Given the description of an element on the screen output the (x, y) to click on. 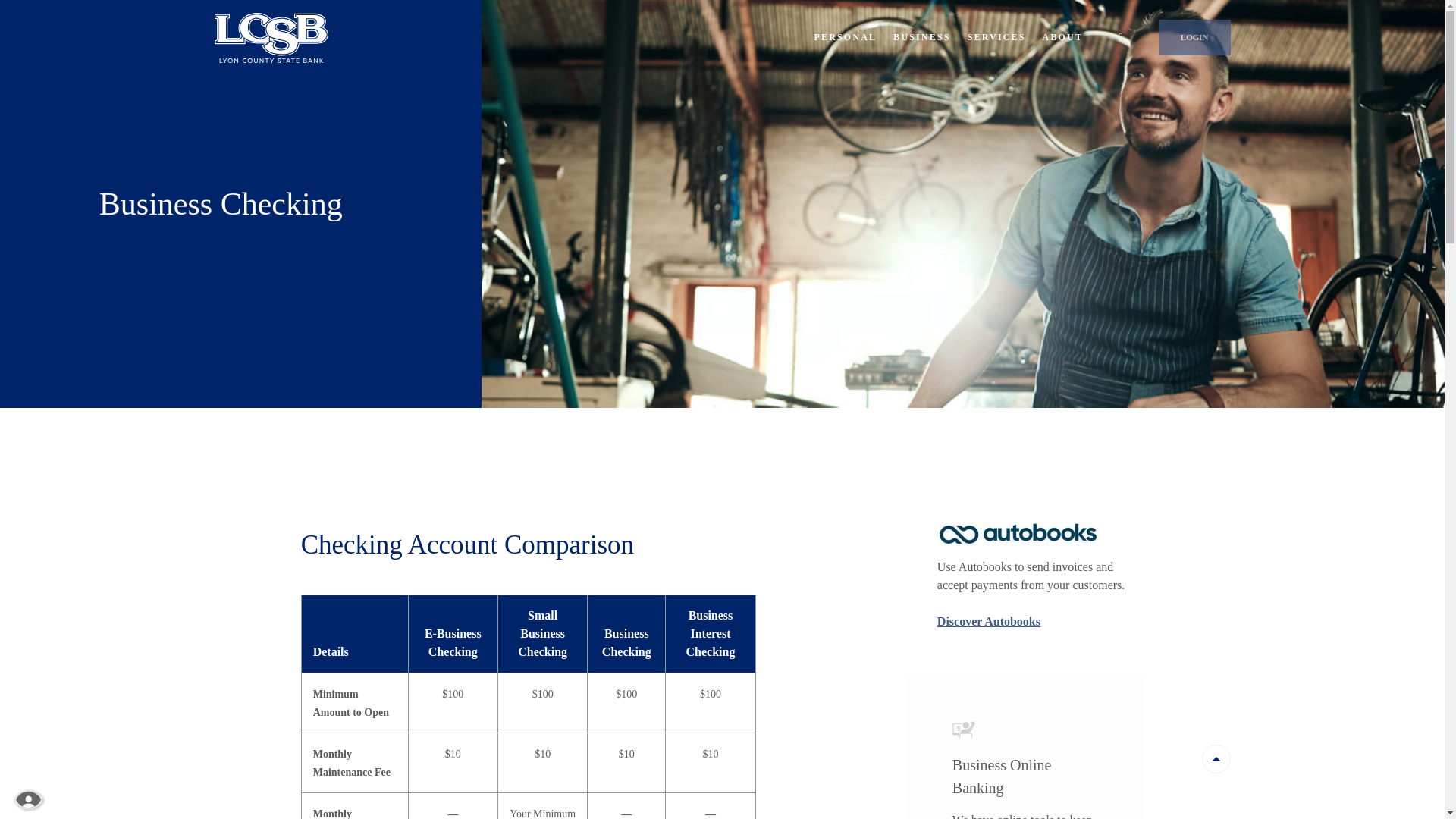
Lyon County State Bank, Emporia, KS (270, 37)
Back to the top (1215, 758)
LOGIN (1194, 37)
Discover Autobooks (989, 621)
